Given the description of an element on the screen output the (x, y) to click on. 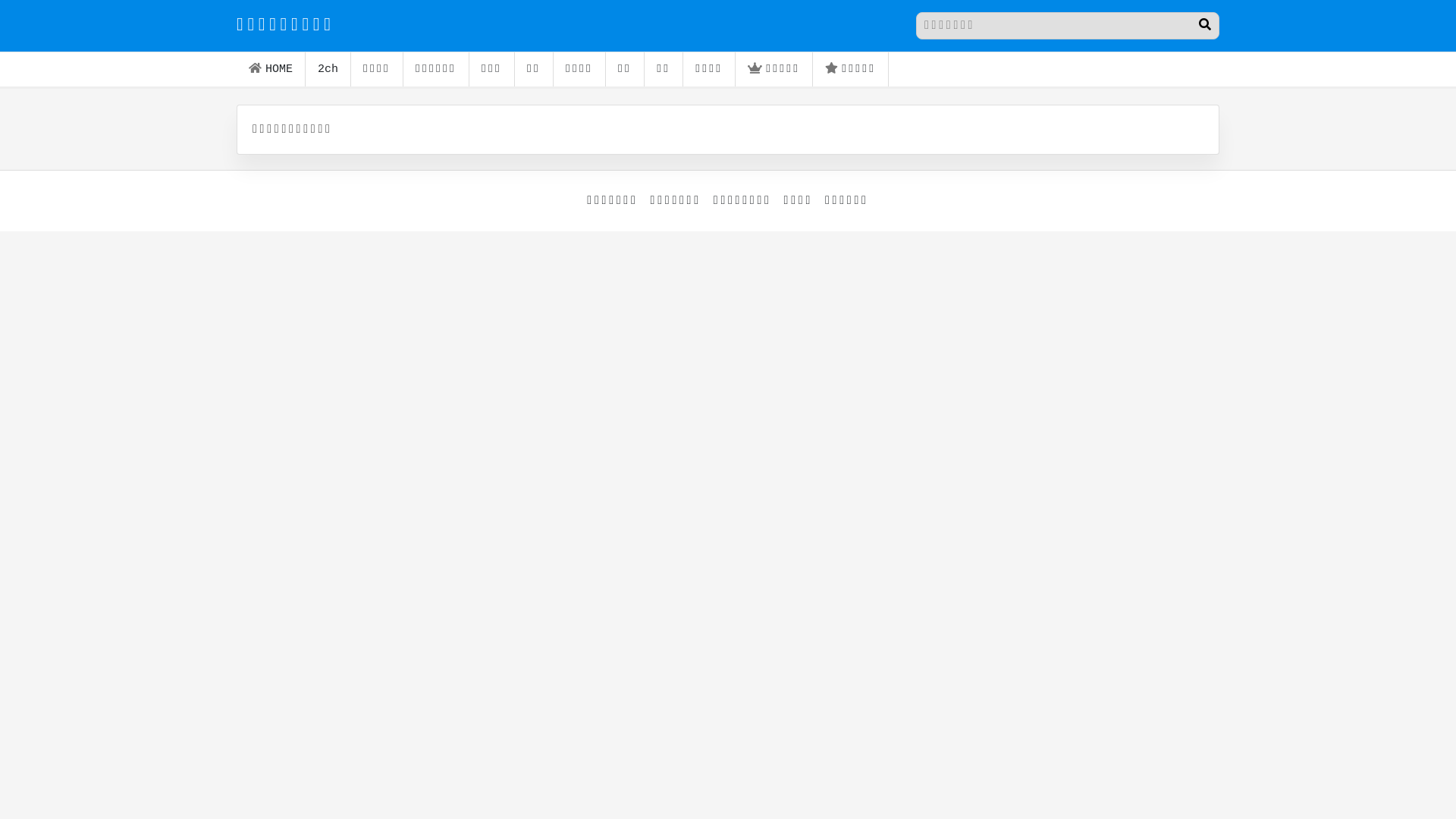
2ch Element type: text (327, 69)
HOME Element type: text (270, 69)
